Given the description of an element on the screen output the (x, y) to click on. 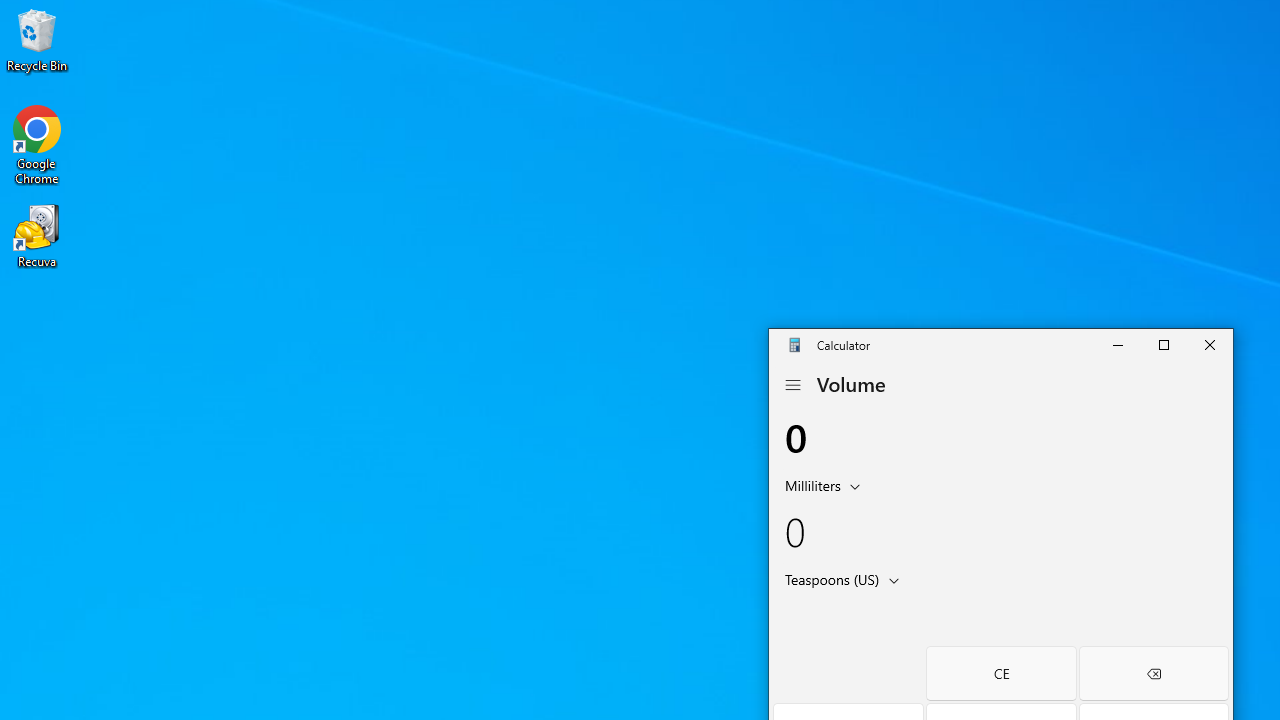
Close Calculator (1209, 344)
Output unit (845, 578)
Minimize Calculator (1117, 344)
Input unit (826, 484)
Clear entry (1000, 673)
Milliliters (810, 484)
Backspace (1153, 673)
Maximize Calculator (1163, 344)
Open Navigation (792, 385)
Teaspoons (US) (830, 578)
